Given the description of an element on the screen output the (x, y) to click on. 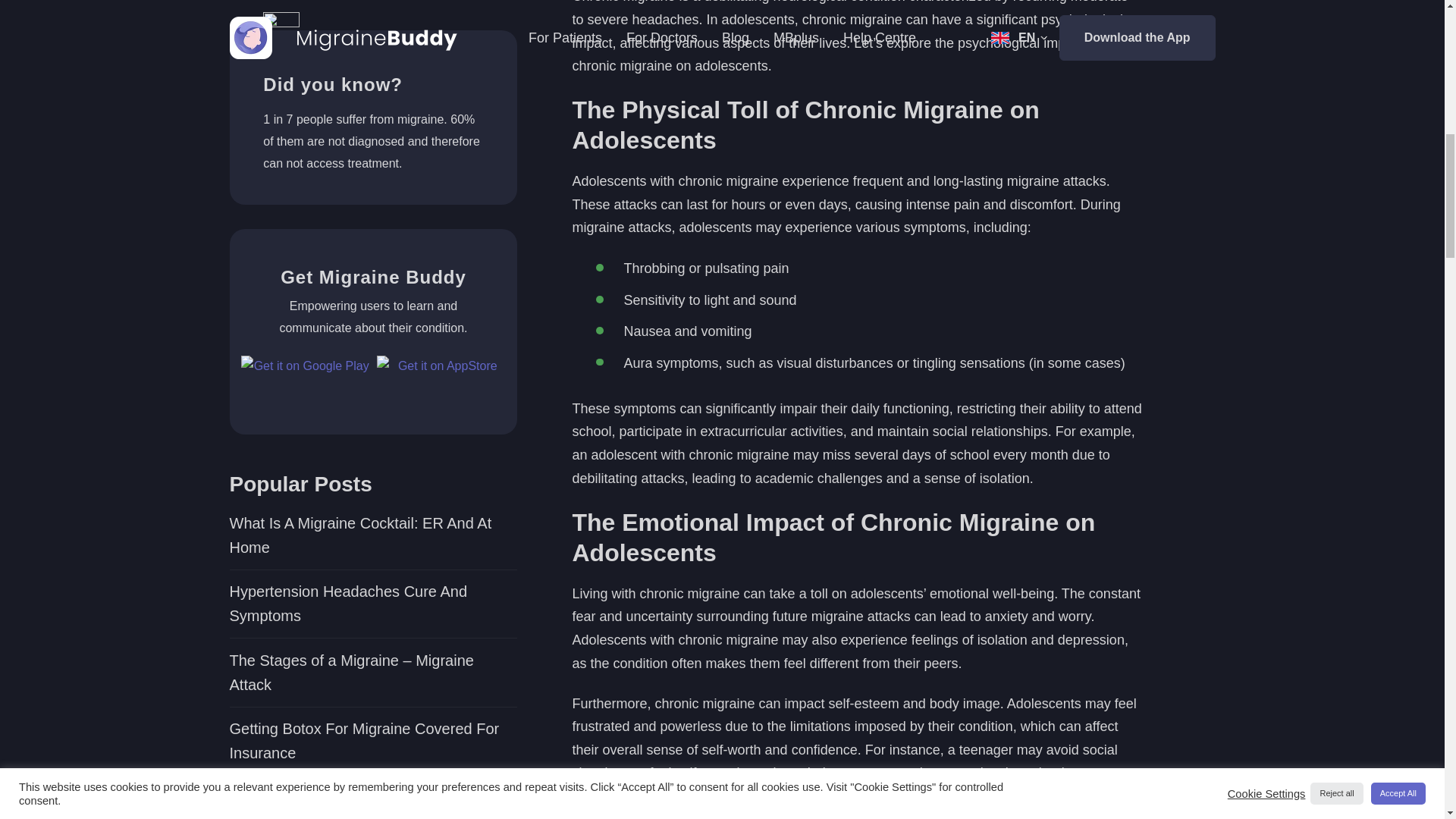
Getting Botox For Migraine Covered For Insurance (372, 39)
7 Migraine Symptoms You Must Know (372, 96)
Getting Botox For Migraine Covered For Insurance (372, 39)
7 Migraine Symptoms You Must Know (372, 96)
